Given the description of an element on the screen output the (x, y) to click on. 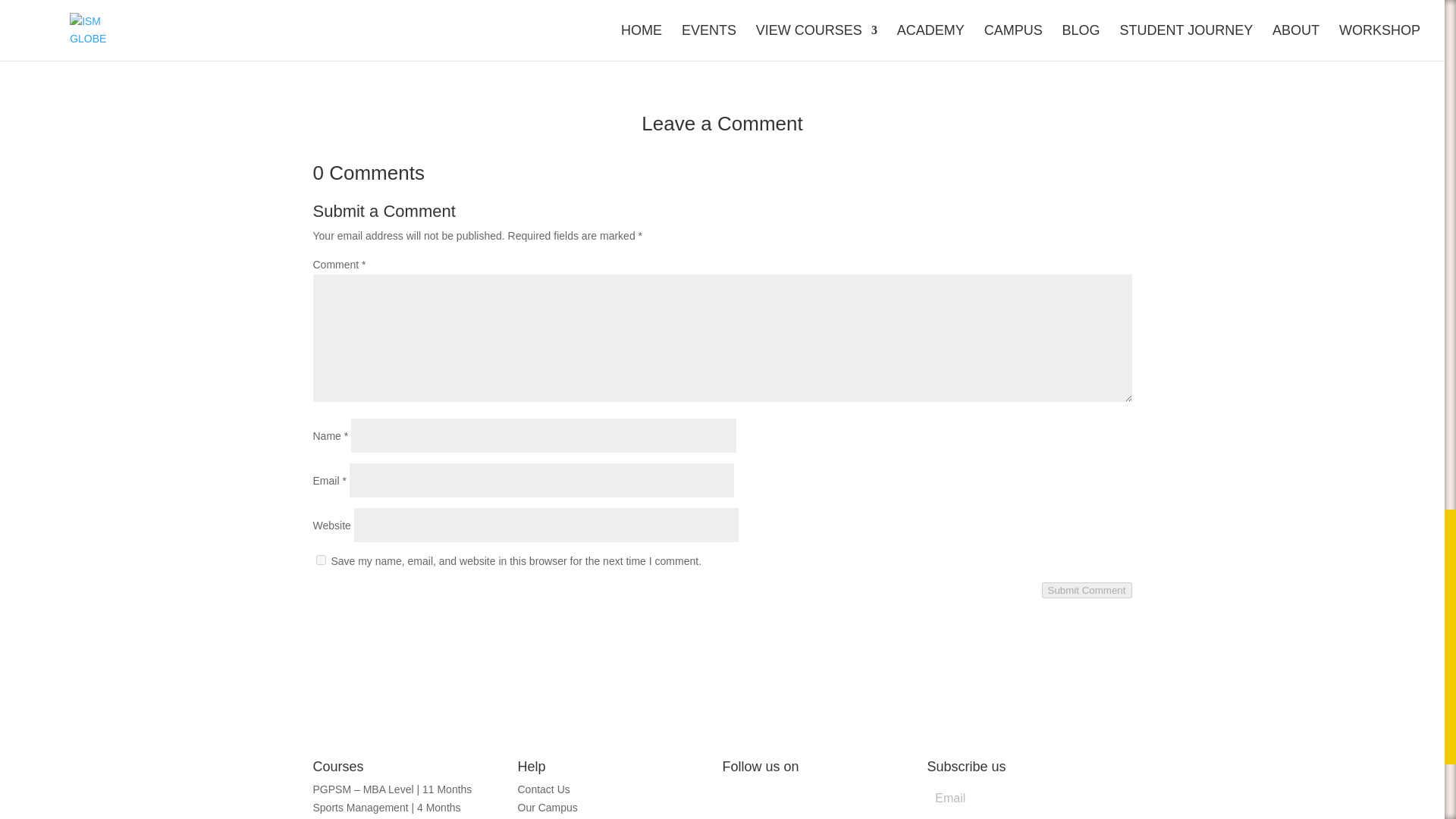
Submit Comment (1087, 590)
yes (319, 560)
Follow on LinkedIn (764, 793)
Follow on Instagram (733, 793)
